Given the description of an element on the screen output the (x, y) to click on. 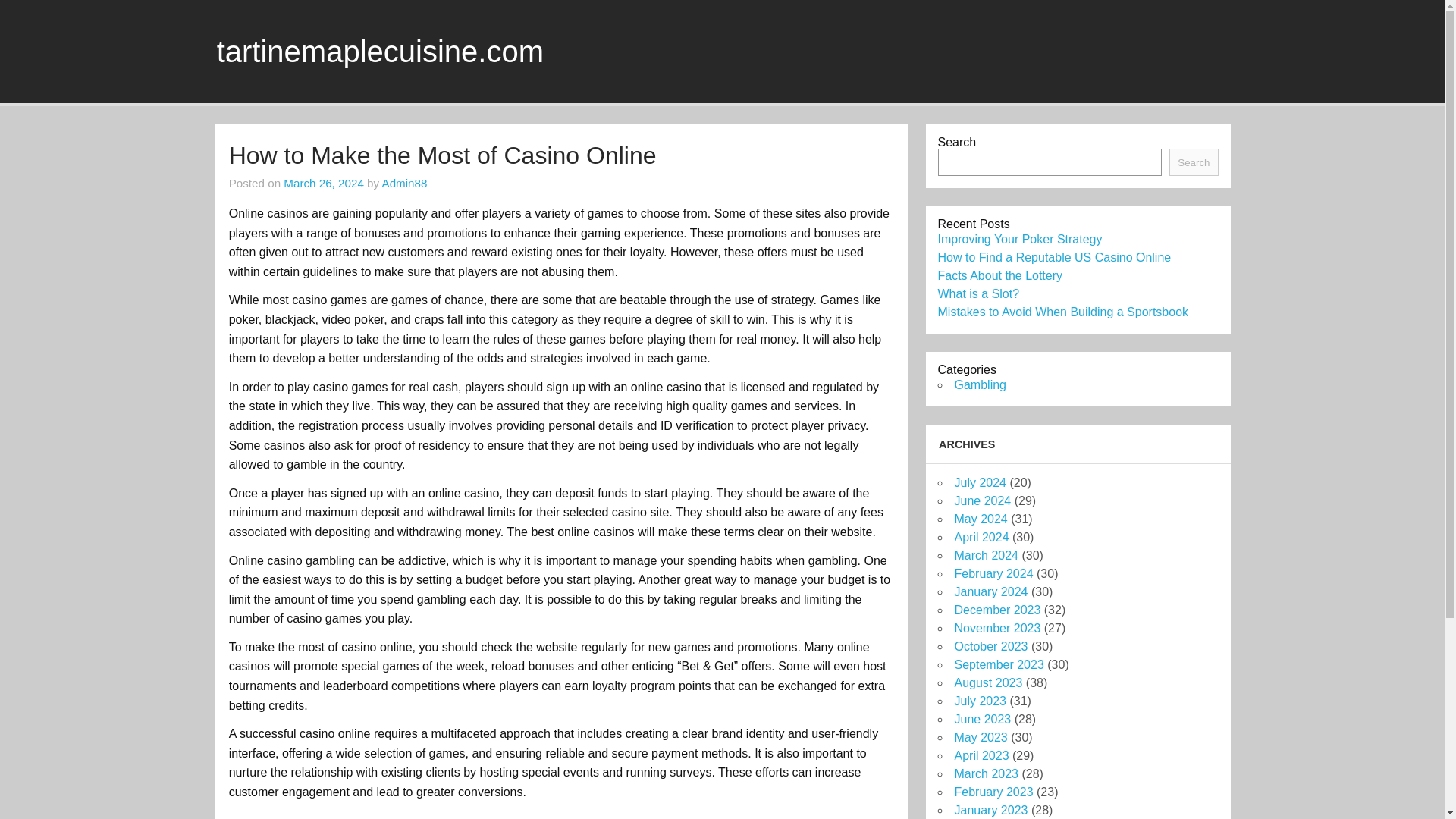
February 2023 (992, 791)
September 2023 (998, 664)
Admin88 (404, 182)
December 2023 (997, 609)
Search (1193, 162)
Improving Your Poker Strategy (1019, 238)
March 2024 (985, 554)
May 2024 (980, 518)
June 2024 (981, 500)
What is a Slot? (978, 293)
July 2023 (979, 700)
View all posts by Admin88 (404, 182)
February 2024 (992, 573)
July 2024 (979, 481)
March 26, 2024 (323, 182)
